Given the description of an element on the screen output the (x, y) to click on. 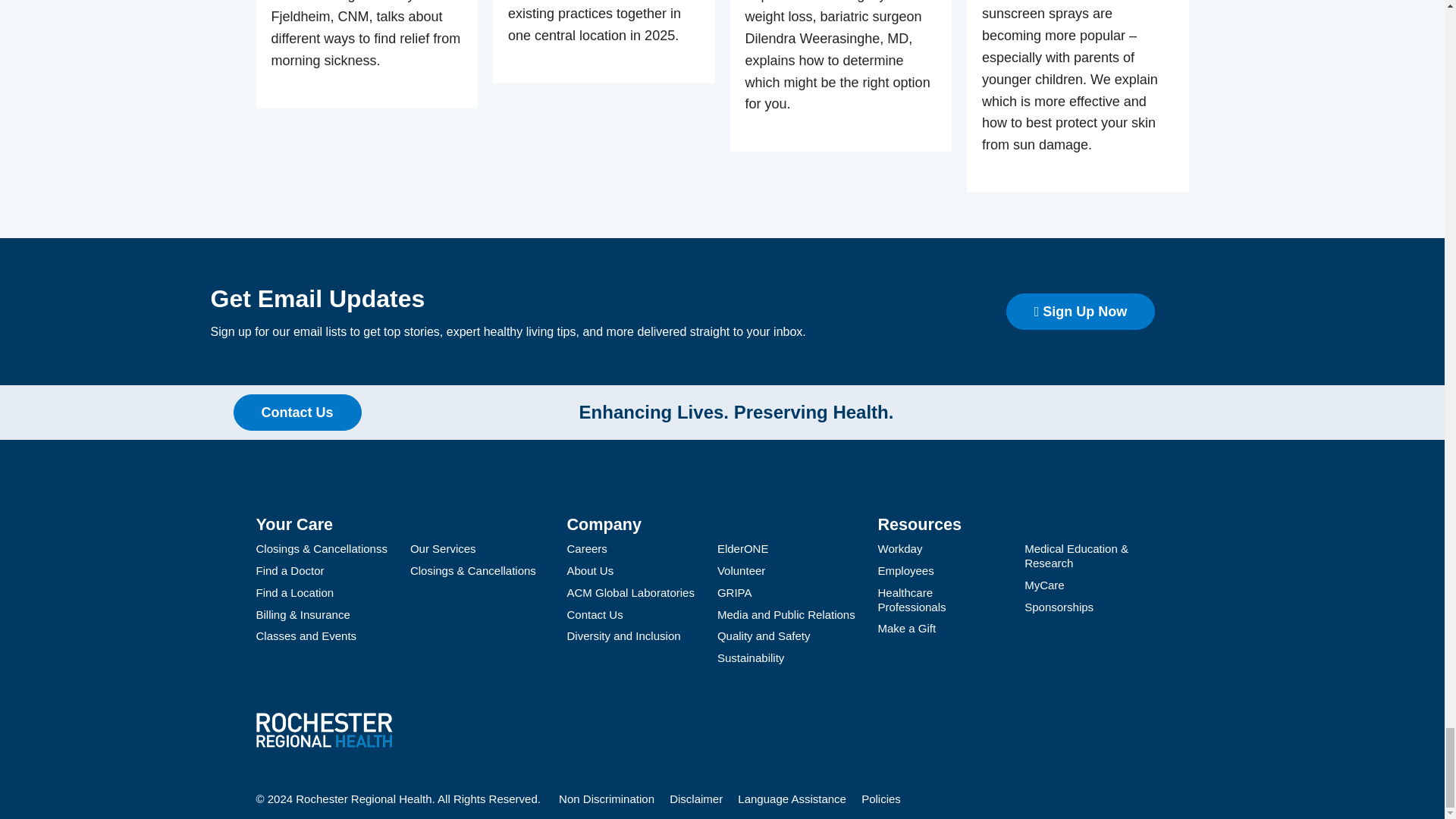
Remedies for Morning Sickness During Pregnancy (367, 53)
Should I Have Bariatric Surgery or Go On Ozempic? (840, 75)
Sunscreen Lotion vs. Sunscreen Spray: Which is Best? (1077, 96)
